Given the description of an element on the screen output the (x, y) to click on. 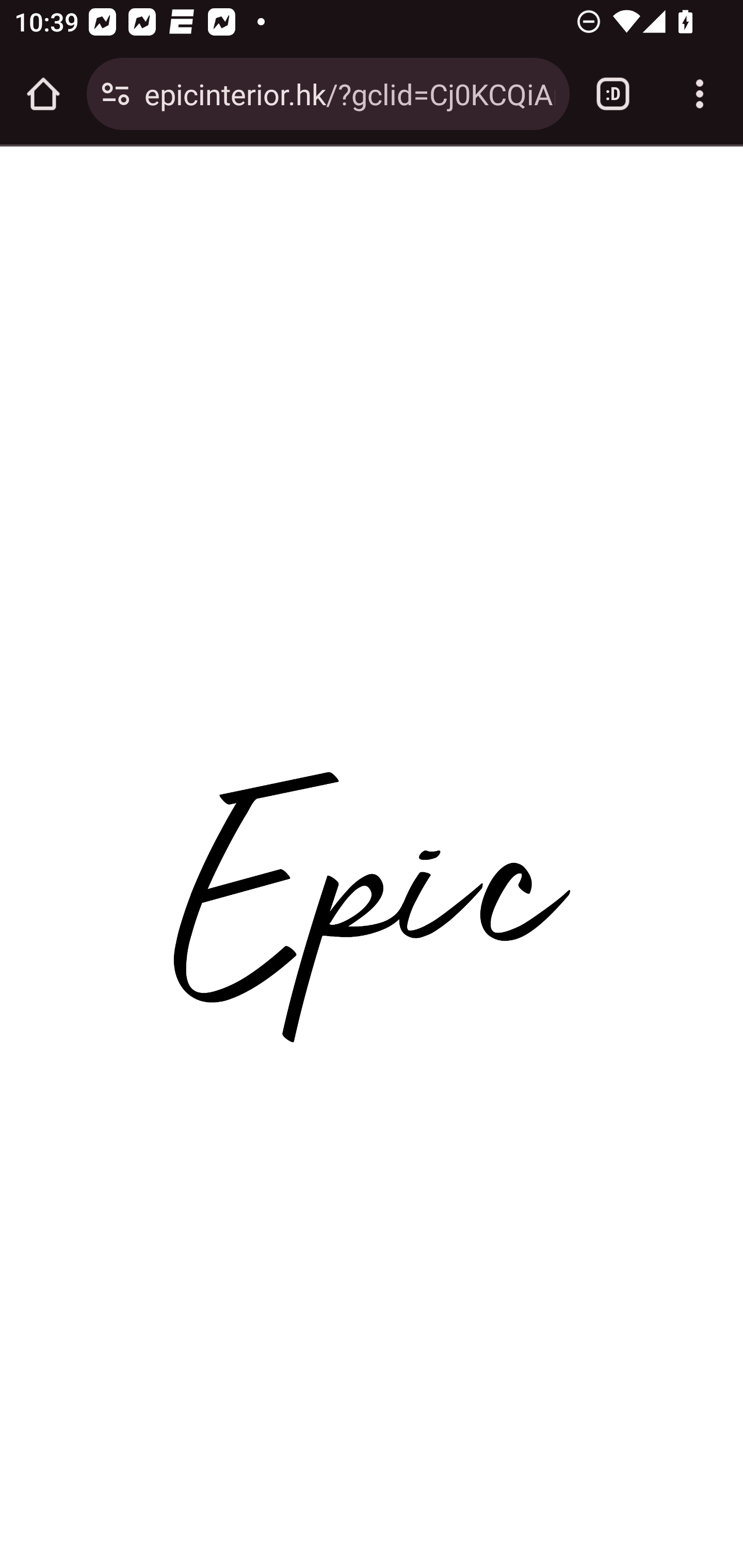
Open the home page (43, 93)
Connection is secure (115, 93)
Switch or close tabs (612, 93)
Customize and control Google Chrome (699, 93)
